Given the description of an element on the screen output the (x, y) to click on. 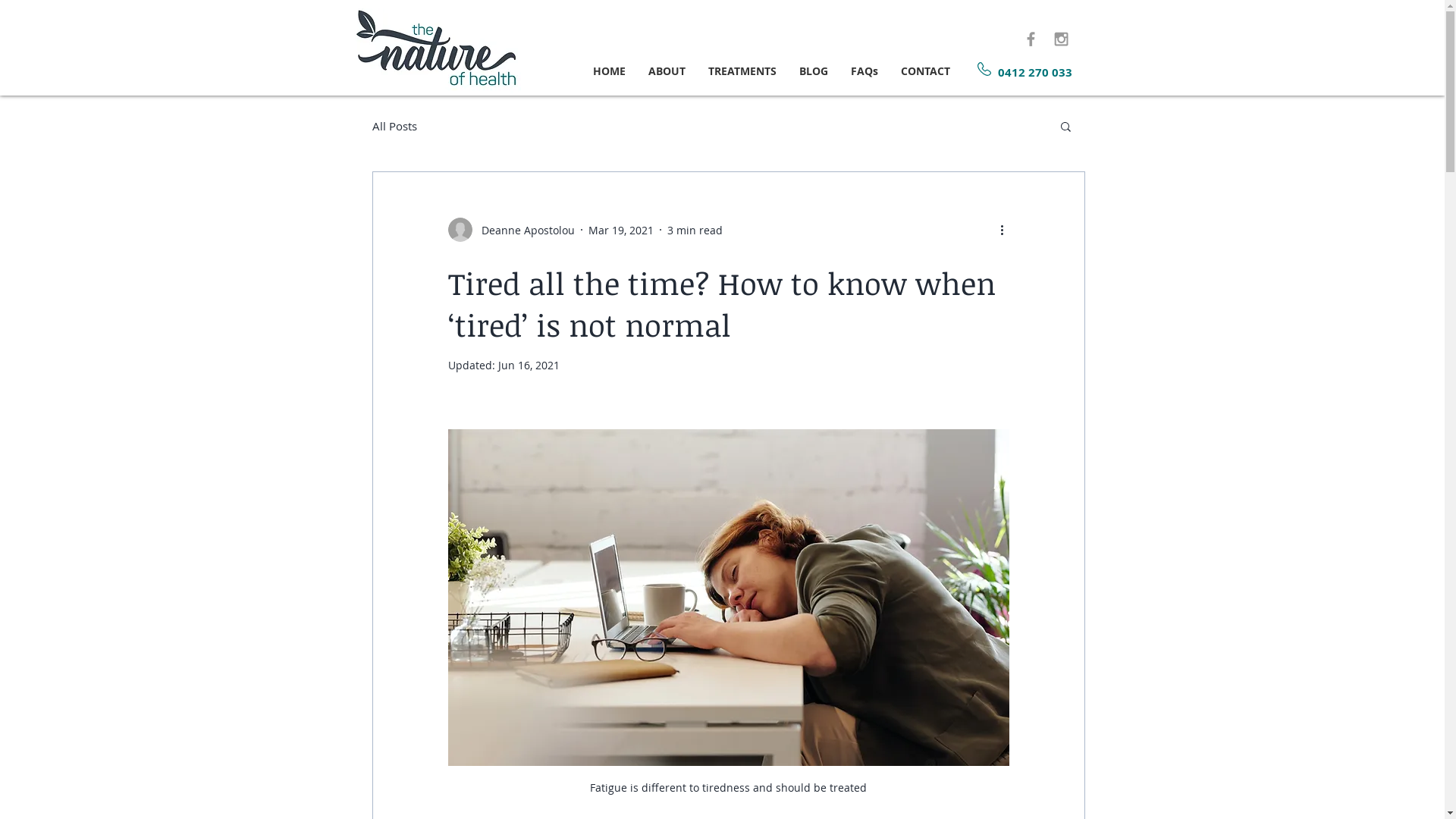
HOME Element type: text (608, 70)
CONTACT Element type: text (924, 70)
All Posts Element type: text (393, 125)
FAQs Element type: text (863, 70)
